Given the description of an element on the screen output the (x, y) to click on. 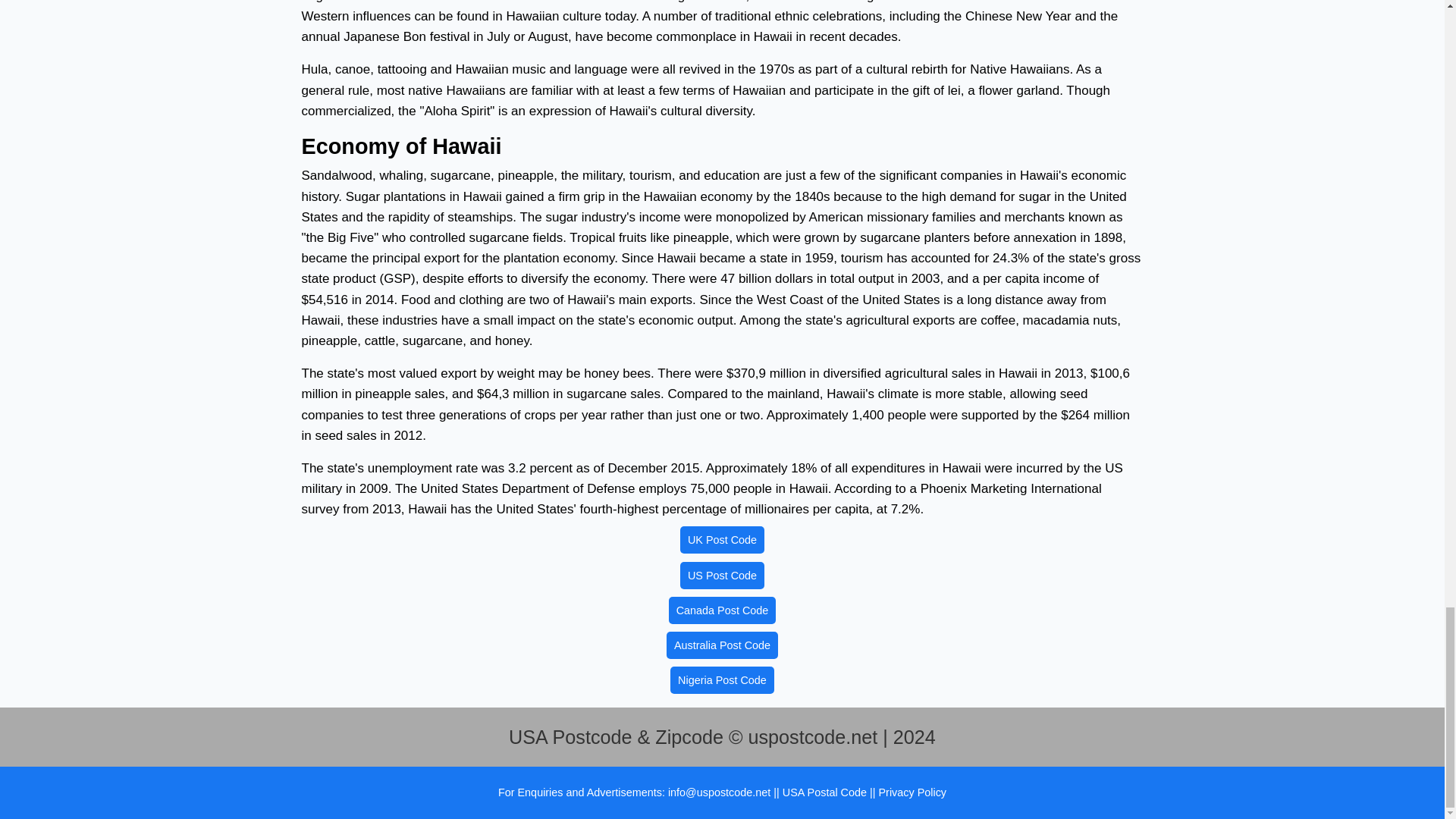
Australia Post Code (721, 645)
Nigeria Post Code (721, 679)
Privacy Policy (911, 792)
Canada Post Code (722, 610)
UK Post Code (721, 539)
USA Postal Code (826, 792)
US Post Code (721, 574)
